Given the description of an element on the screen output the (x, y) to click on. 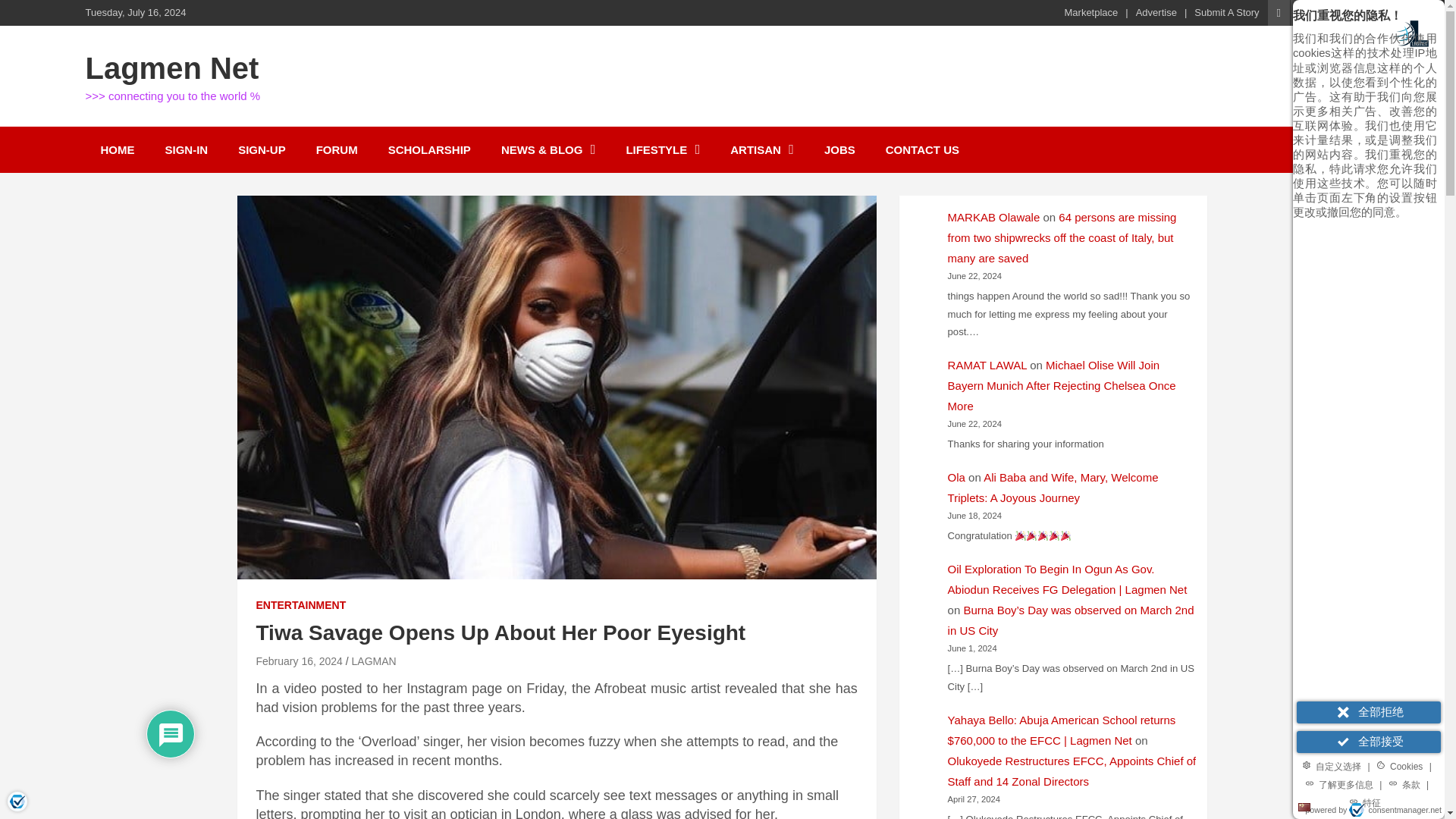
Advertise (1155, 12)
SCHOLARSHIP (429, 149)
HOME (116, 149)
SIGN-UP (261, 149)
SIGN-IN (186, 149)
Cookies (1399, 765)
FORUM (336, 149)
Language: zh (1304, 807)
LIFESTYLE (662, 149)
consentmanager.net (1395, 809)
Submit A Story (1226, 12)
Lagmen Net (171, 68)
Language: zh (1304, 806)
ARTISAN (761, 149)
Marketplace (1091, 12)
